Given the description of an element on the screen output the (x, y) to click on. 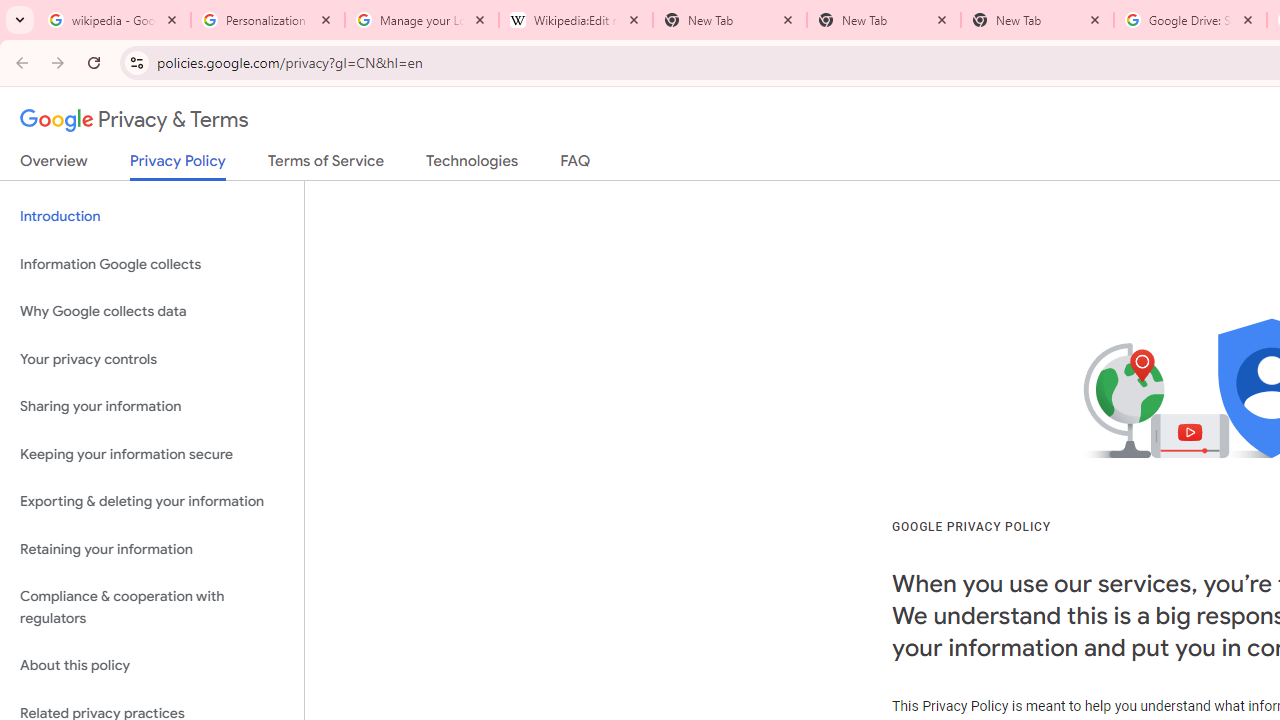
New Tab (883, 20)
Personalization & Google Search results - Google Search Help (267, 20)
Manage your Location History - Google Search Help (421, 20)
